Given the description of an element on the screen output the (x, y) to click on. 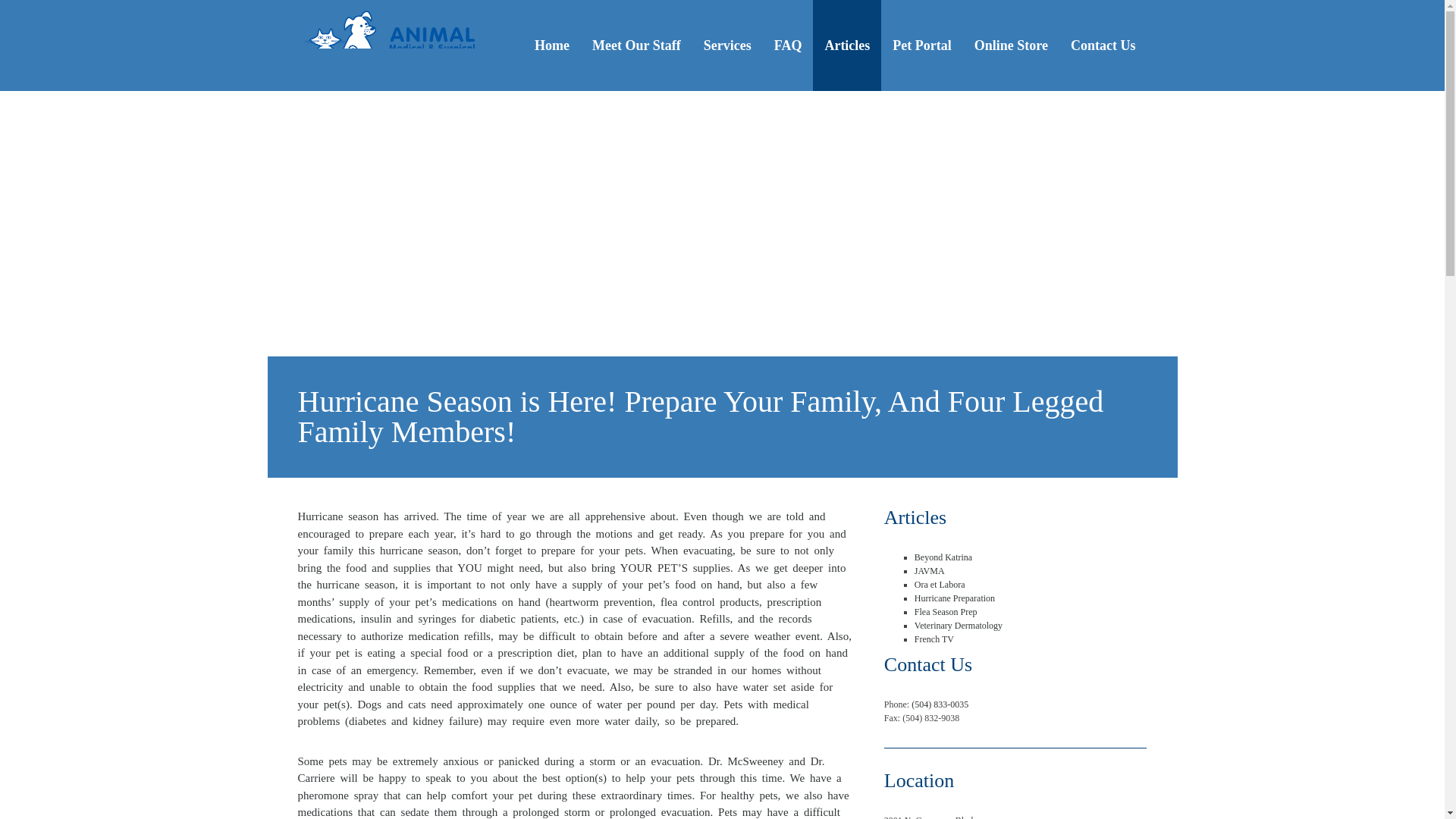
Pet Portal (921, 45)
Contact Us (1103, 45)
Meet Our Staff (636, 45)
Online Store (1010, 45)
Beyond Katrina (943, 557)
Animal Medical and Surgical Hospital (393, 45)
JAVMA (929, 570)
